Given the description of an element on the screen output the (x, y) to click on. 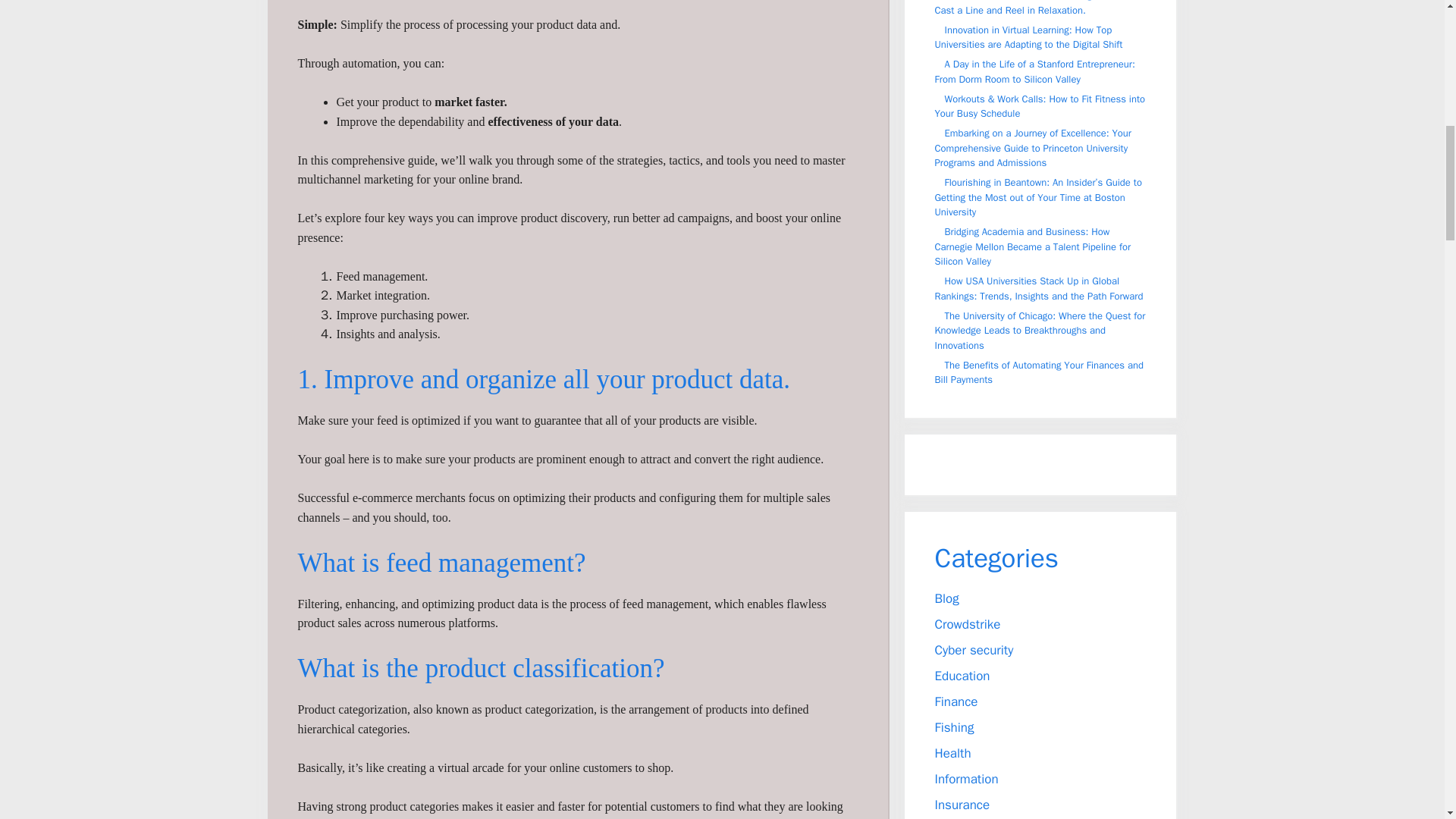
Education (962, 675)
Health (952, 752)
The Benefits of Automating Your Finances and Bill Payments (1038, 371)
Fishing (954, 726)
